Given the description of an element on the screen output the (x, y) to click on. 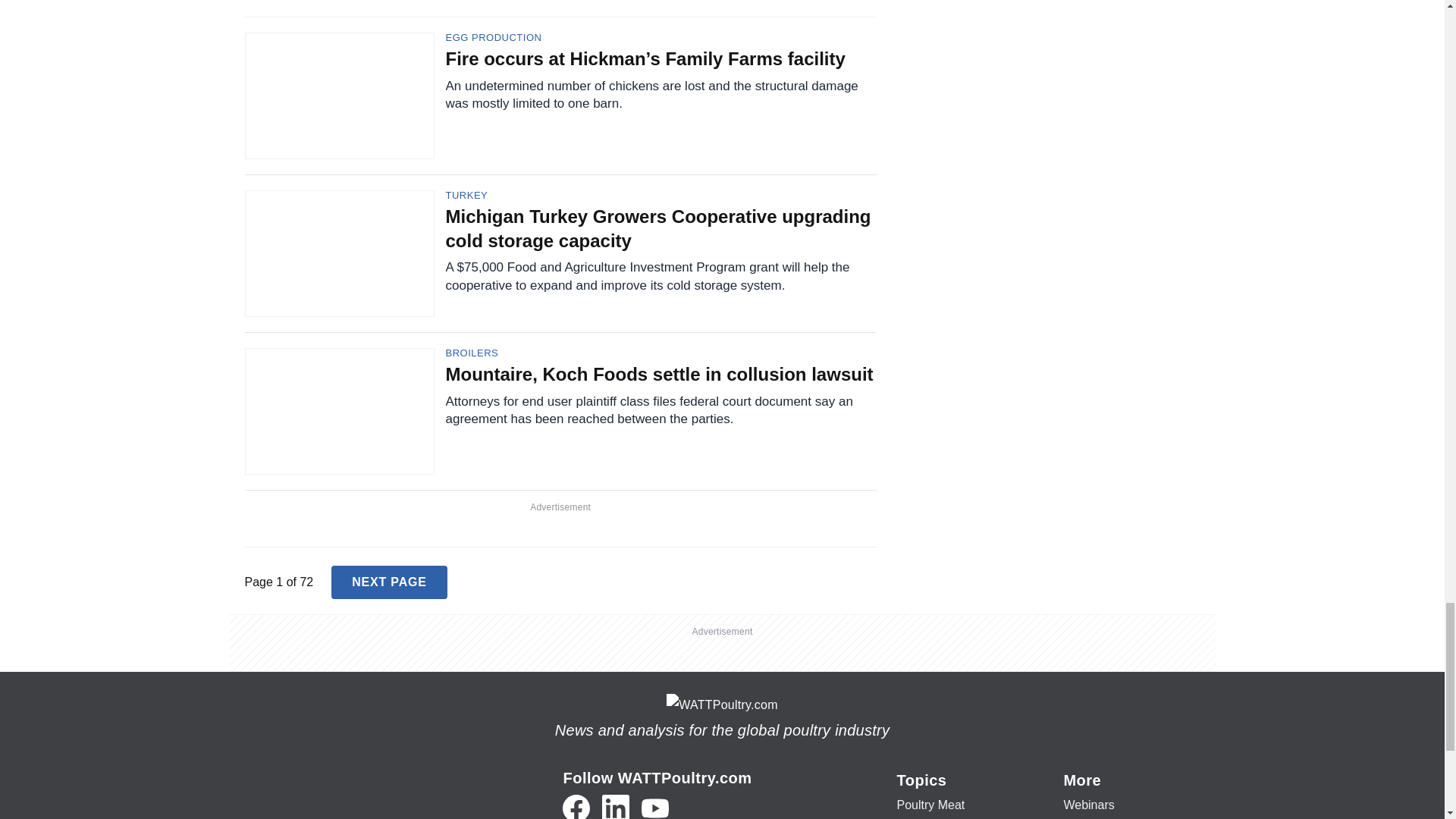
LinkedIn icon (615, 806)
YouTube icon (655, 806)
Facebook icon (575, 806)
